Given the description of an element on the screen output the (x, y) to click on. 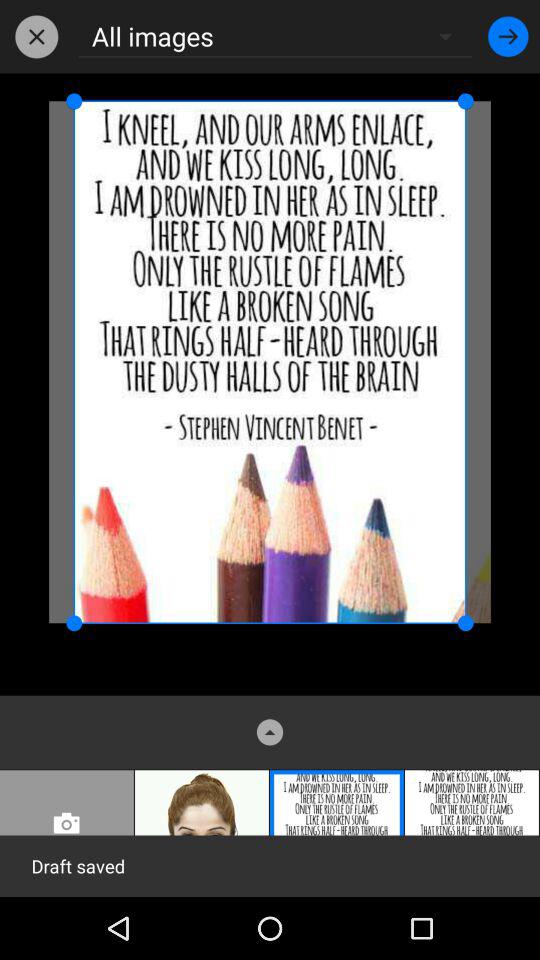
click the item to the right of all images item (508, 36)
